Given the description of an element on the screen output the (x, y) to click on. 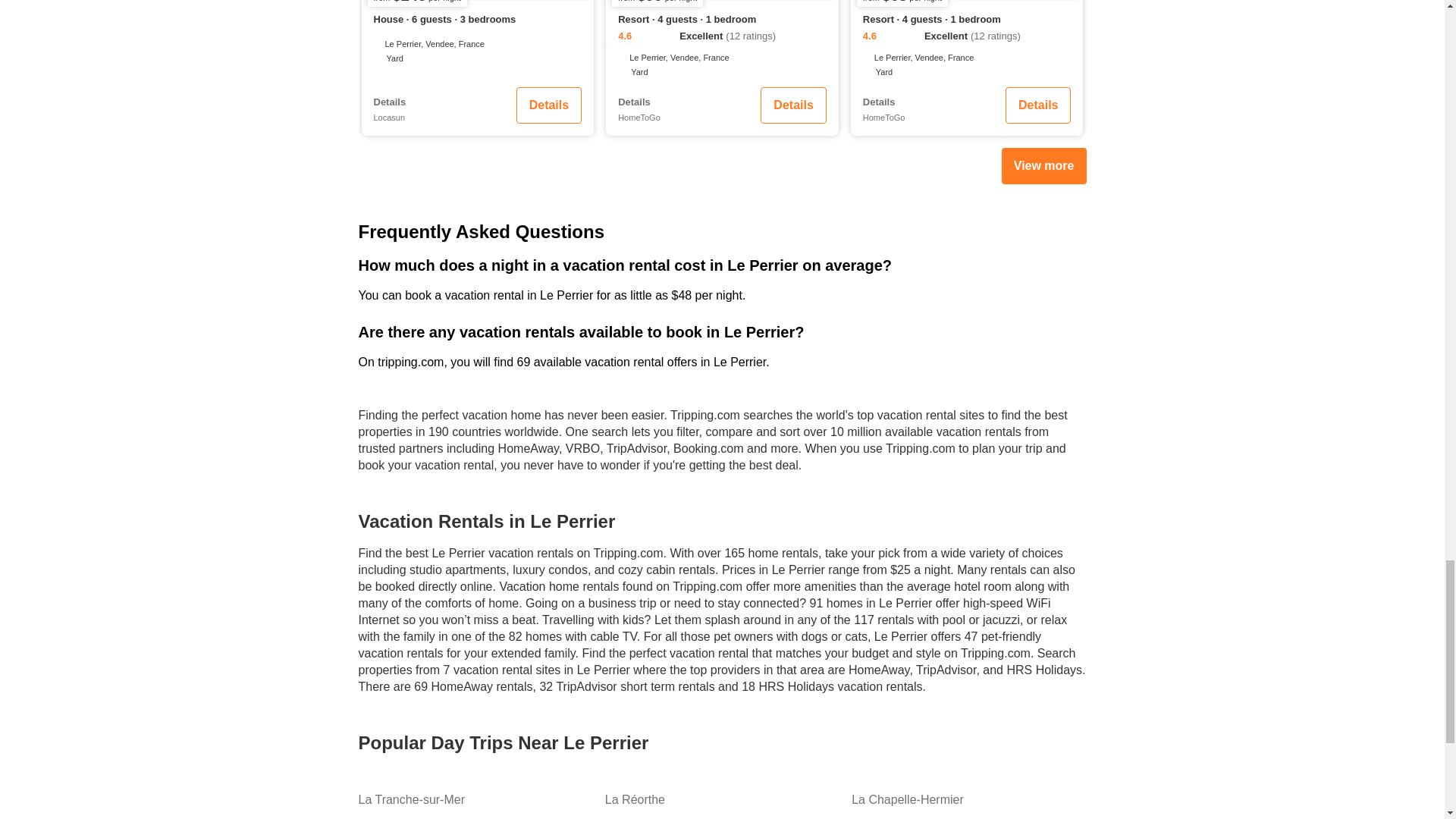
La Chapelle-Hermier (968, 798)
La Tranche-sur-Mer (475, 798)
La Chapelle-Hermier (968, 798)
La Tranche-sur-Mer (475, 798)
